Given the description of an element on the screen output the (x, y) to click on. 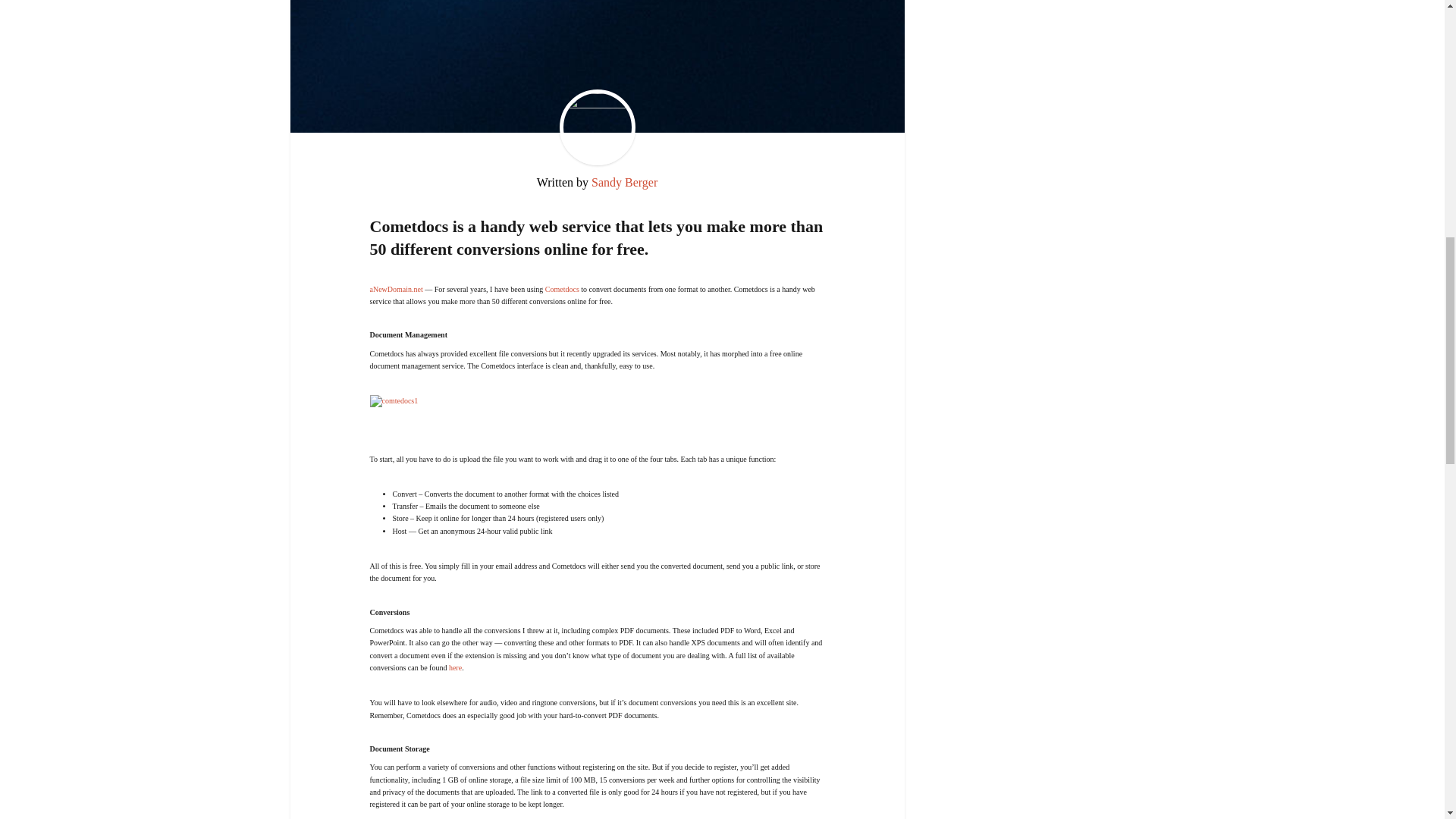
Cometdocs (561, 289)
aNewDomain.net (396, 289)
Sandy Berger (624, 182)
here (454, 667)
